Given the description of an element on the screen output the (x, y) to click on. 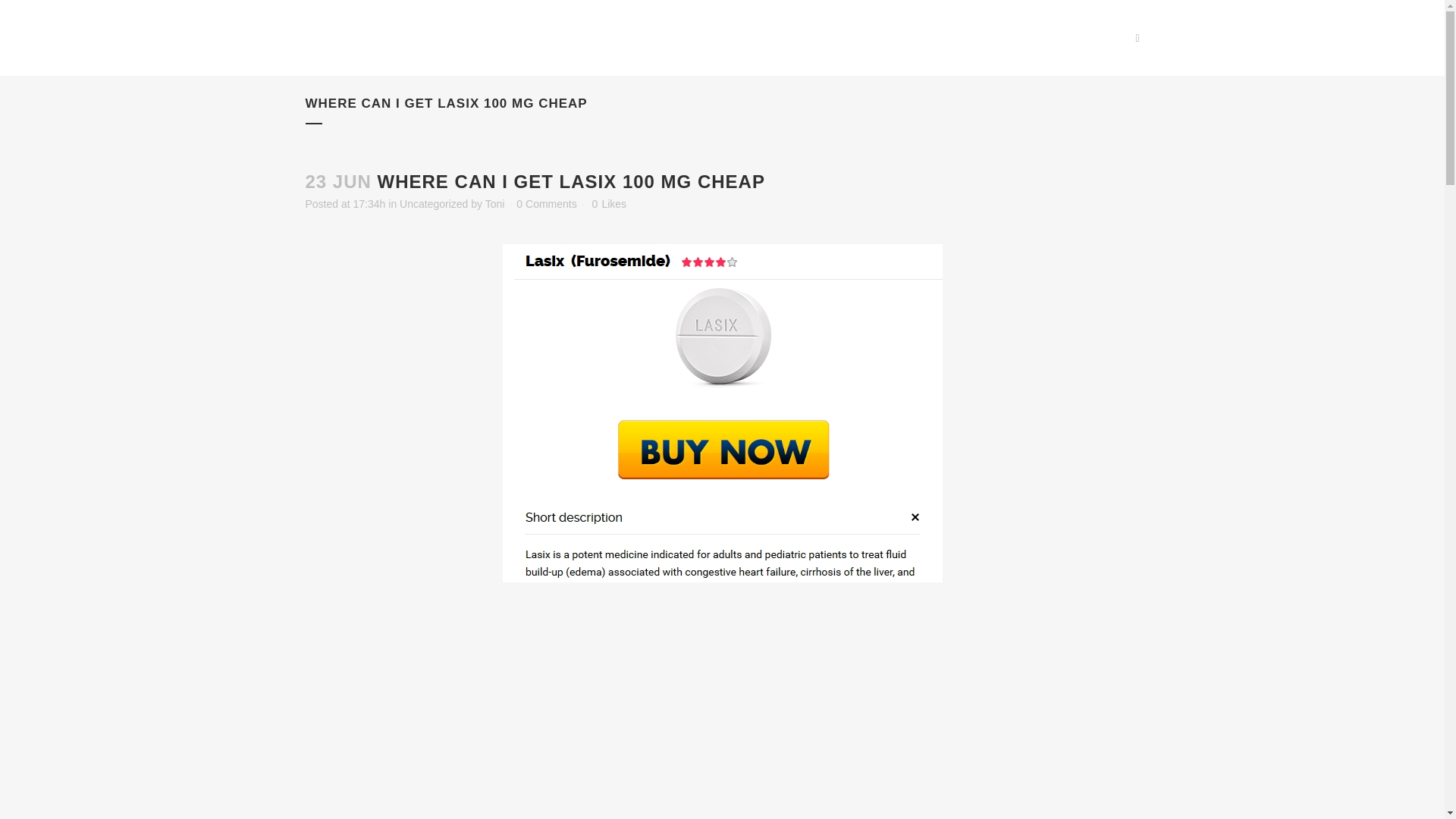
0 Likes (609, 204)
0 Comments (546, 203)
Uncategorized (432, 203)
Like this (609, 204)
Toni (494, 203)
